Given the description of an element on the screen output the (x, y) to click on. 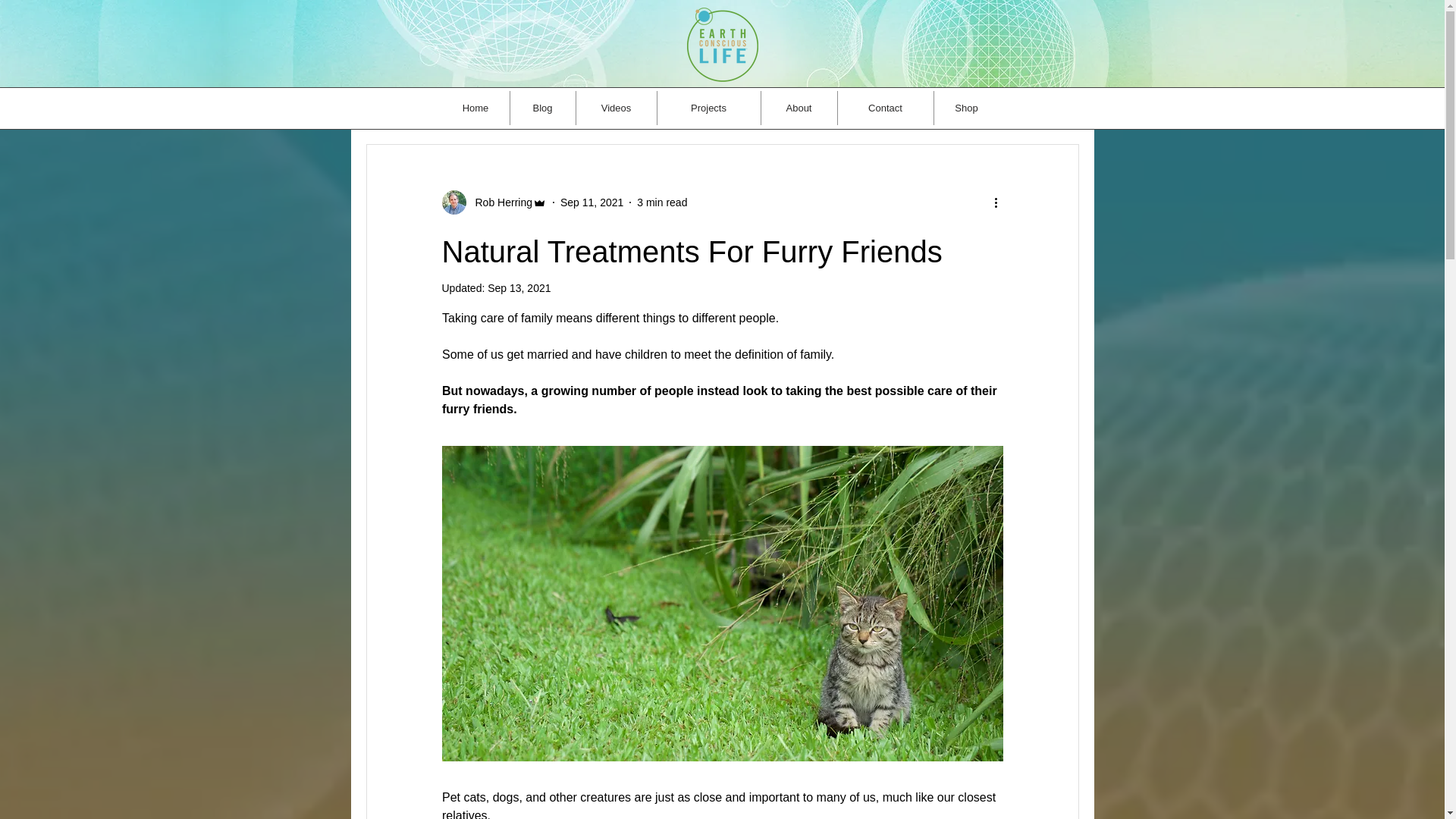
About (799, 107)
Home (474, 107)
Shop (966, 107)
Rob Herring (493, 202)
Contact (885, 107)
3 min read (662, 201)
Videos (616, 107)
Projects (708, 107)
Sep 13, 2021 (518, 287)
Blog (542, 107)
Sep 11, 2021 (591, 201)
Rob Herring (498, 201)
